Given the description of an element on the screen output the (x, y) to click on. 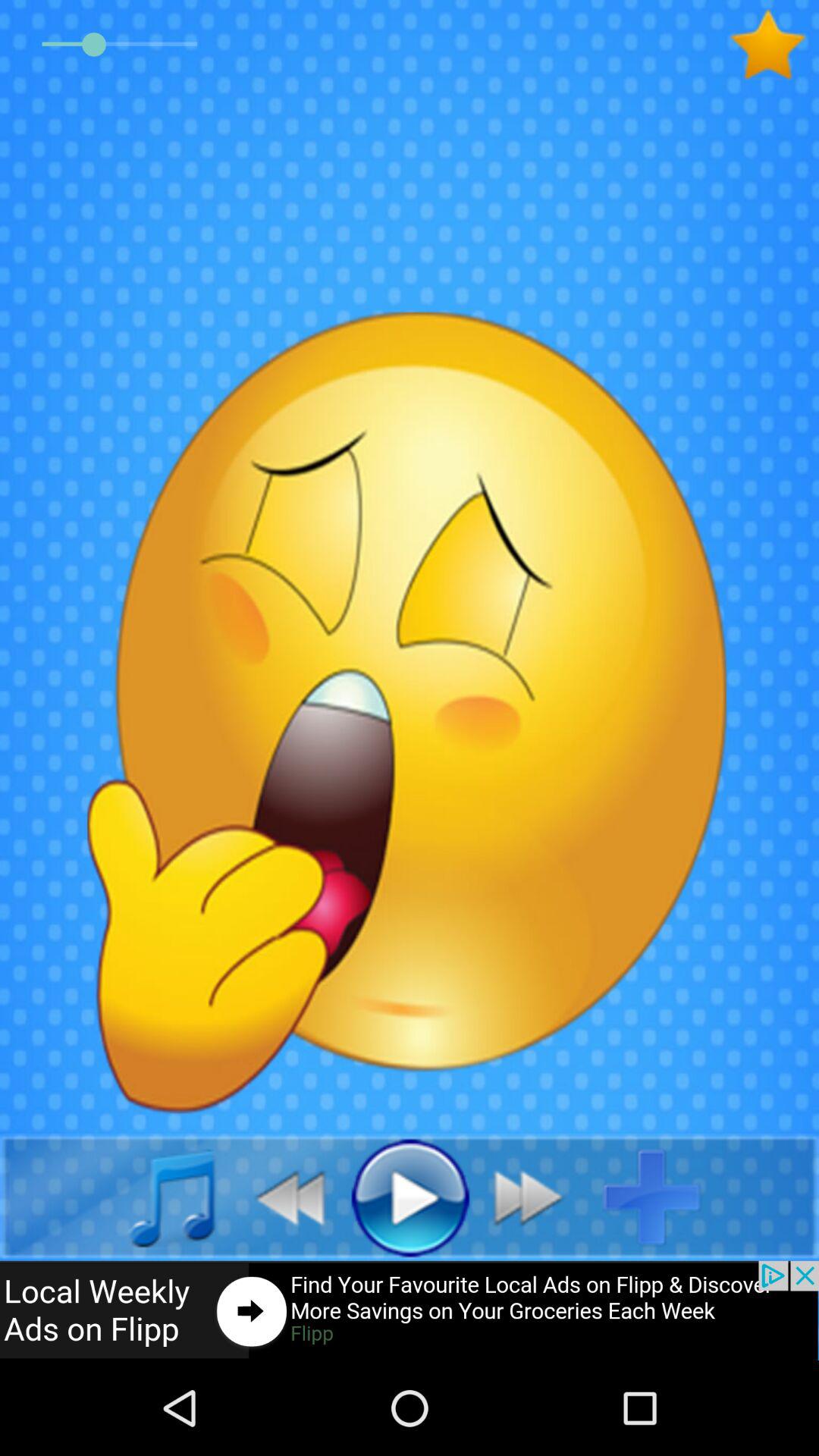
advertisement (409, 1310)
